Given the description of an element on the screen output the (x, y) to click on. 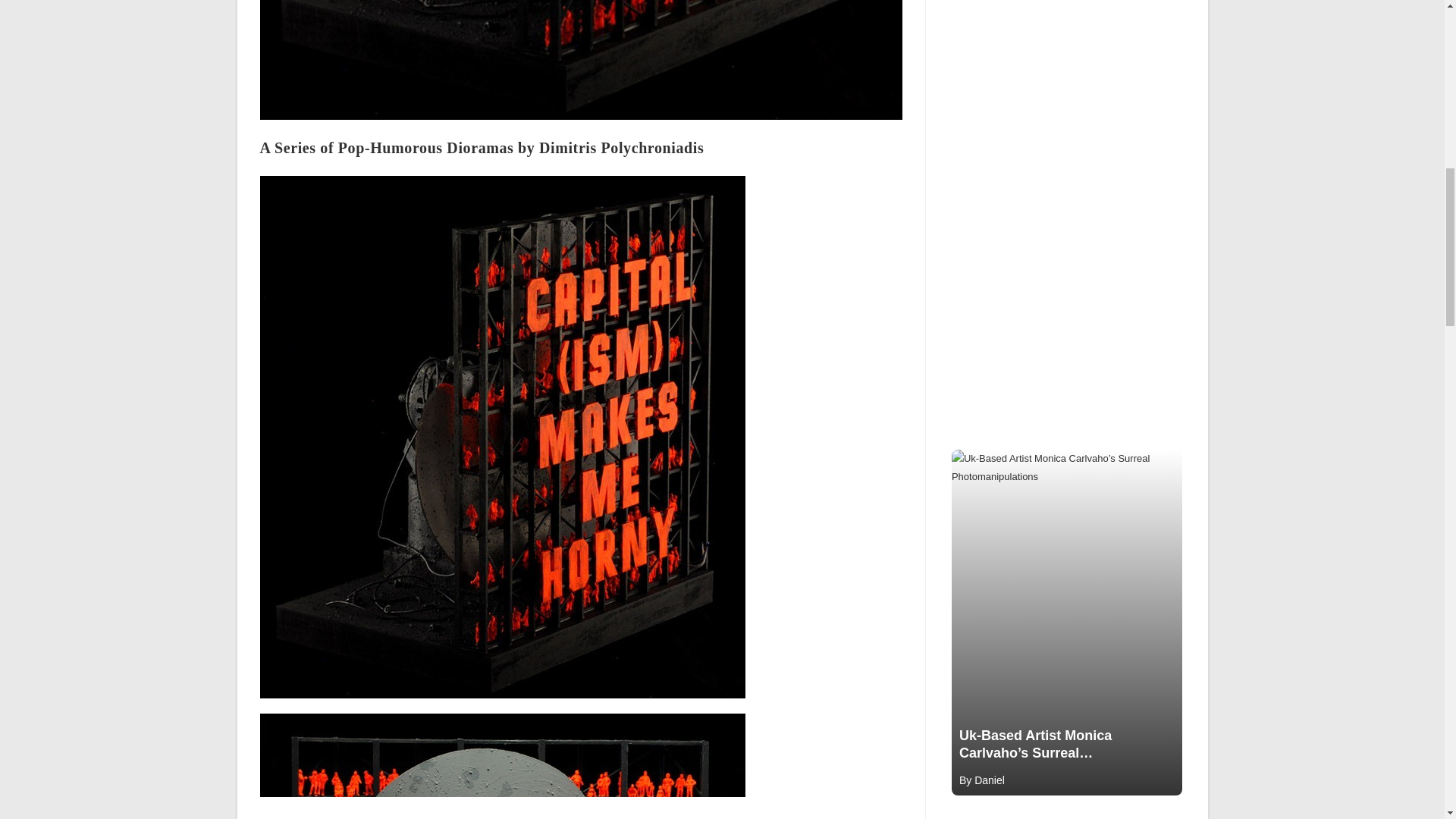
A Series of Pop-Humorous Dioramas by Dimitris Polychroniadis (481, 147)
Repent-Dimitris-Polychroniadis---02 (501, 766)
